Given the description of an element on the screen output the (x, y) to click on. 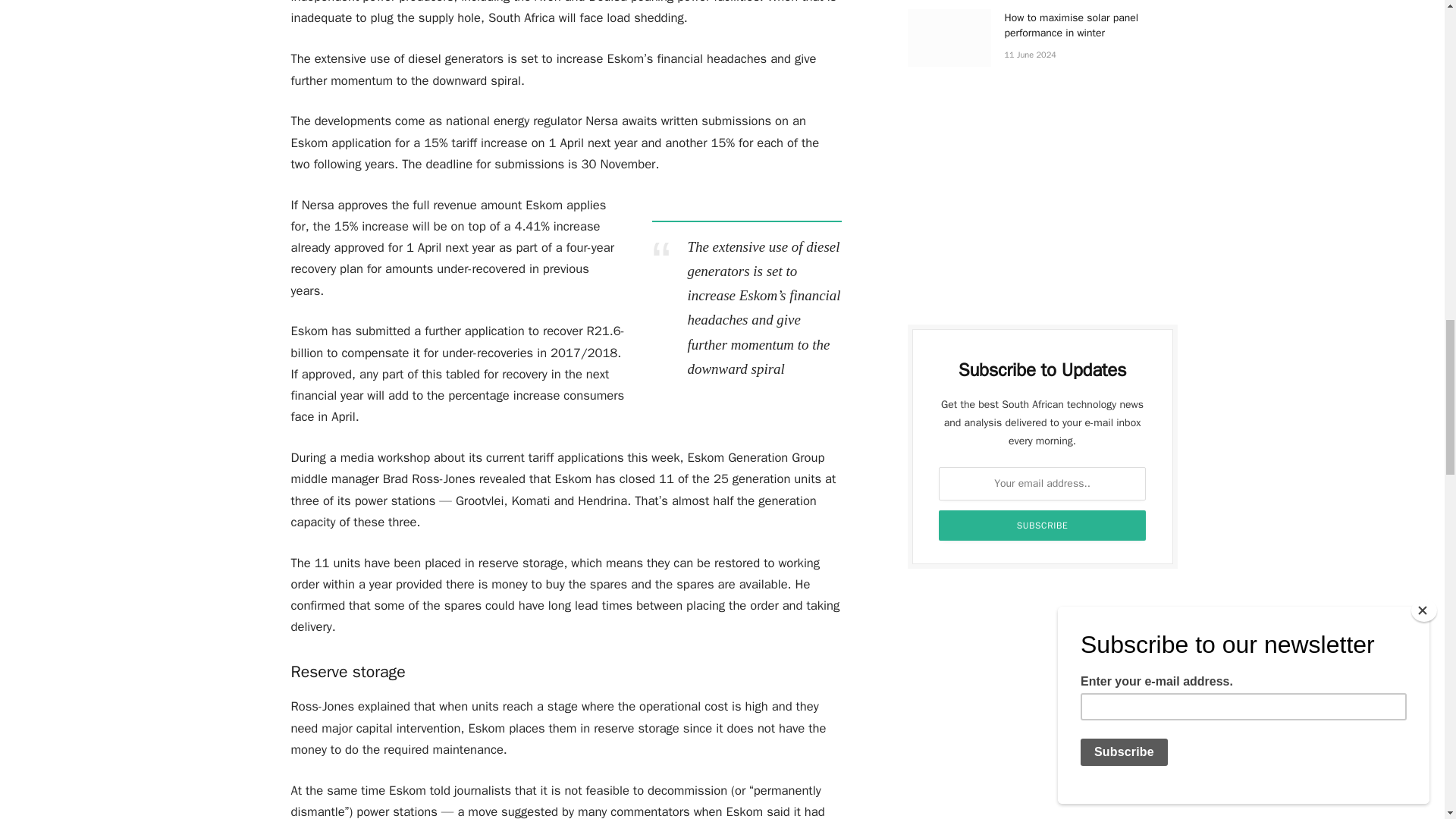
Subscribe (1043, 525)
